Given the description of an element on the screen output the (x, y) to click on. 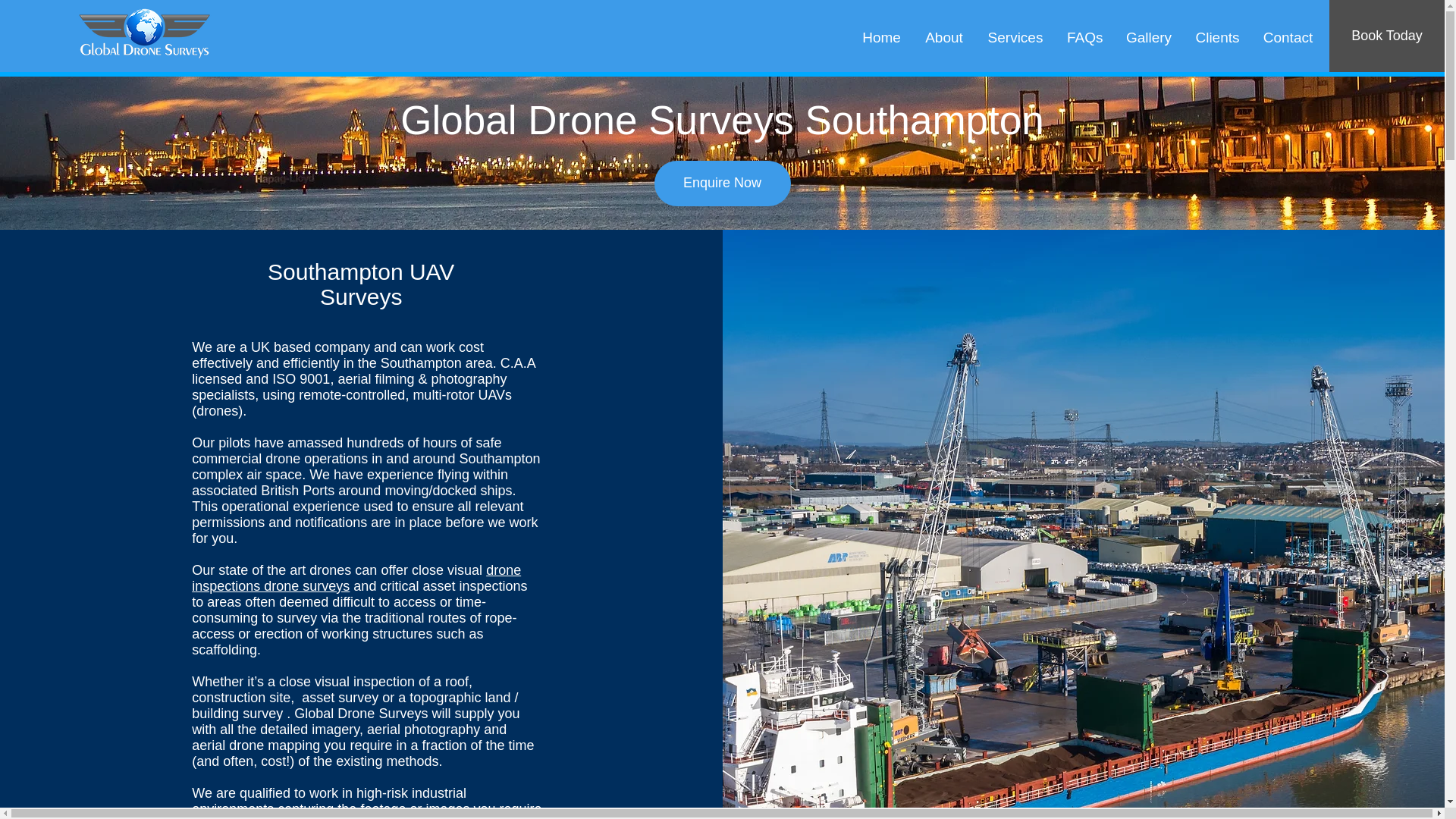
Services (1015, 35)
FAQs (1084, 35)
Gallery (1148, 35)
Clients (1216, 35)
nspections drone surveys (272, 585)
Home (881, 35)
Enquire Now (721, 183)
Contact (1287, 35)
Global Drone Surveys (143, 35)
drone i (356, 577)
About (943, 35)
Book Today (1386, 36)
